Given the description of an element on the screen output the (x, y) to click on. 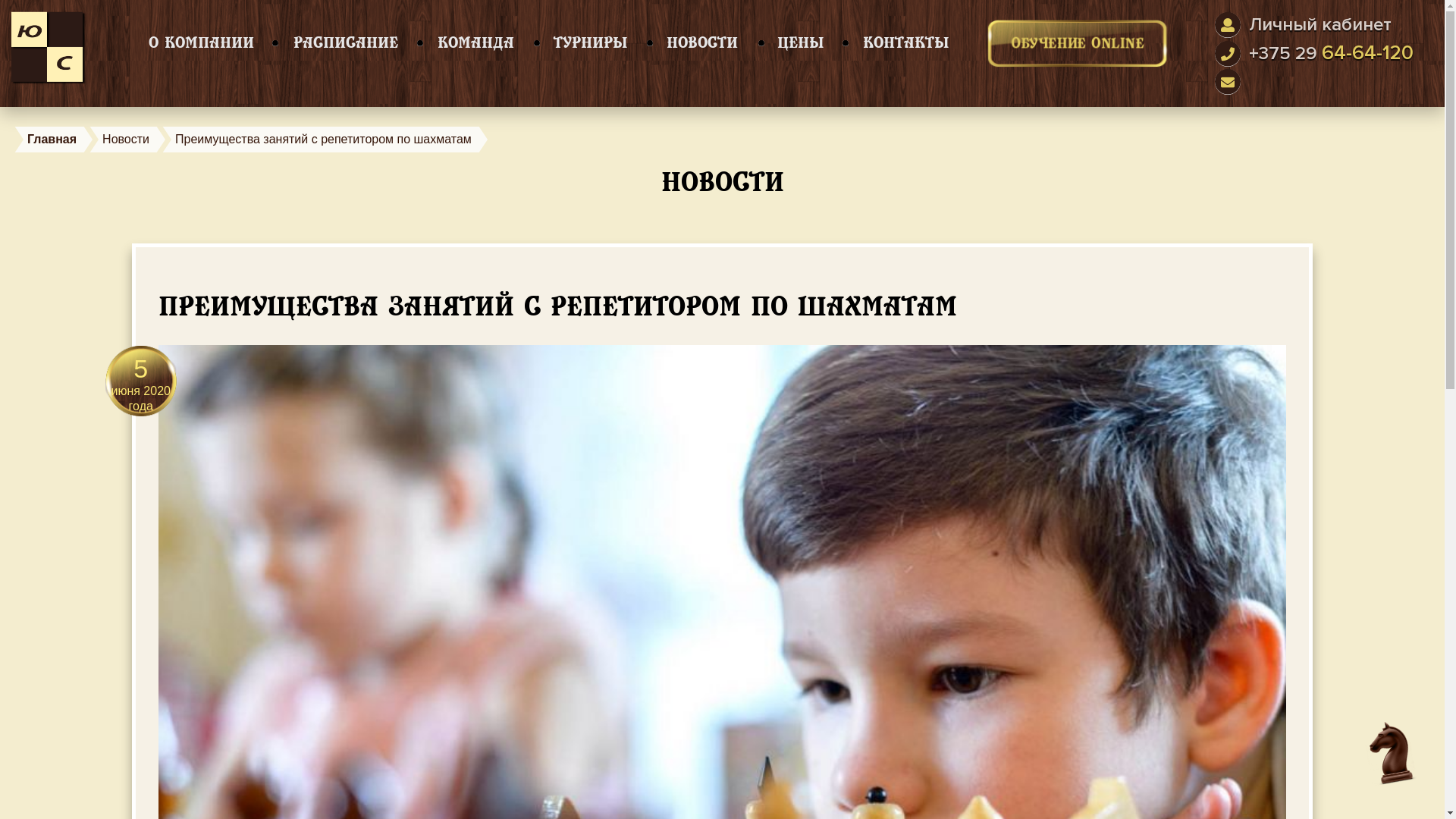
+375 29 64-64-120 Element type: text (1330, 53)
